Given the description of an element on the screen output the (x, y) to click on. 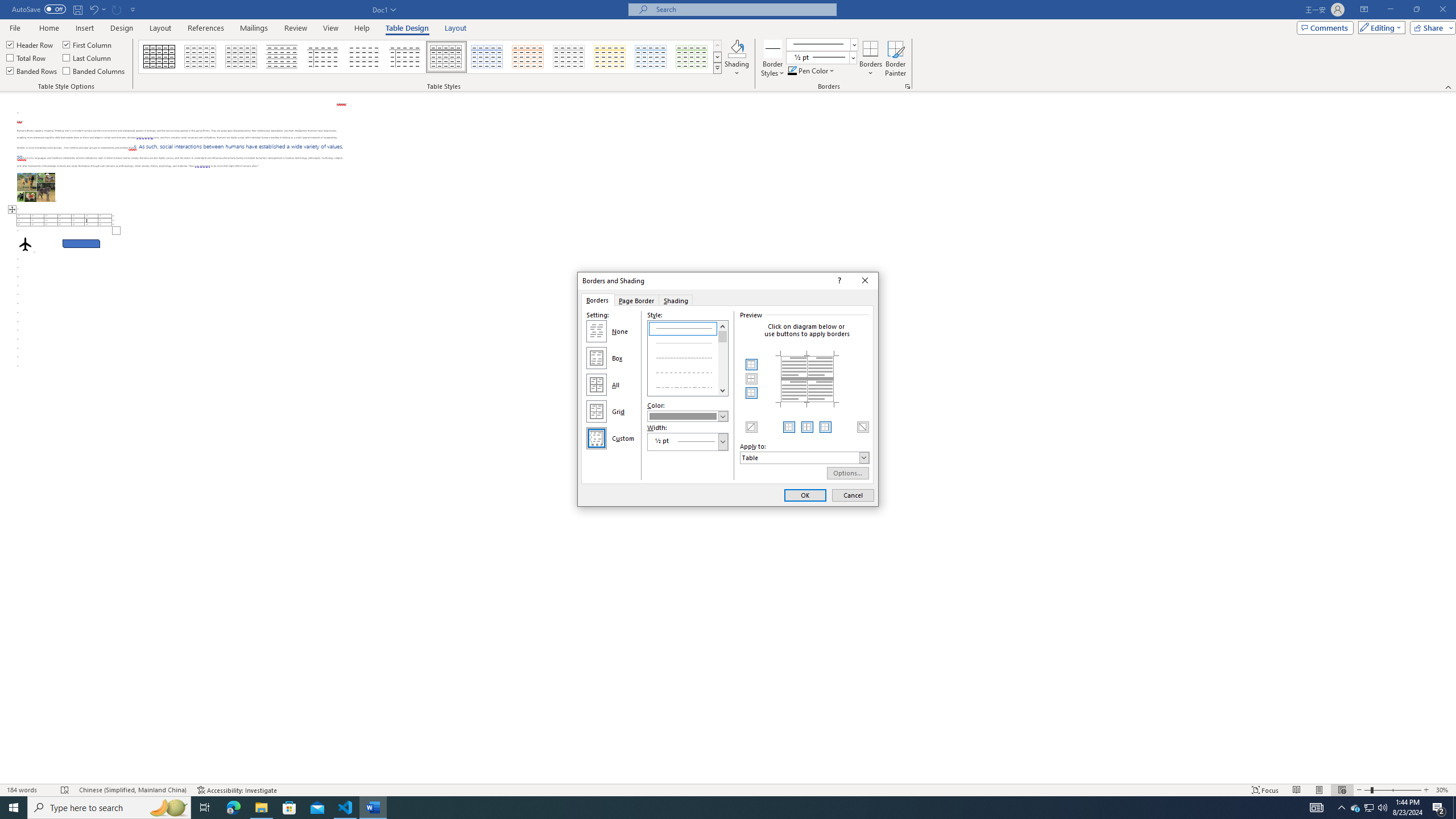
Grid Table 1 Light - Accent 5 (650, 56)
Search highlights icon opens search home window (167, 807)
Top Border (751, 364)
File Explorer - 1 running window (261, 807)
Class: NetUIImage (817, 57)
Zoom Out (1367, 790)
Share (1430, 27)
Borders and Shading... (907, 85)
Row up (717, 45)
Bottom Border (751, 392)
Pen Style (821, 44)
Line down (722, 390)
Web Layout (1342, 790)
Width: (687, 441)
